Given the description of an element on the screen output the (x, y) to click on. 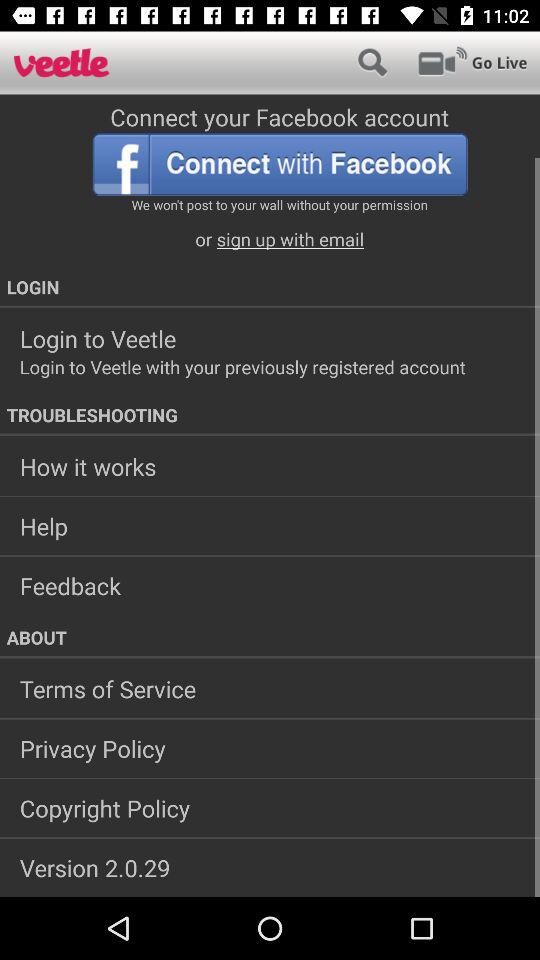
go to homepage (61, 62)
